Given the description of an element on the screen output the (x, y) to click on. 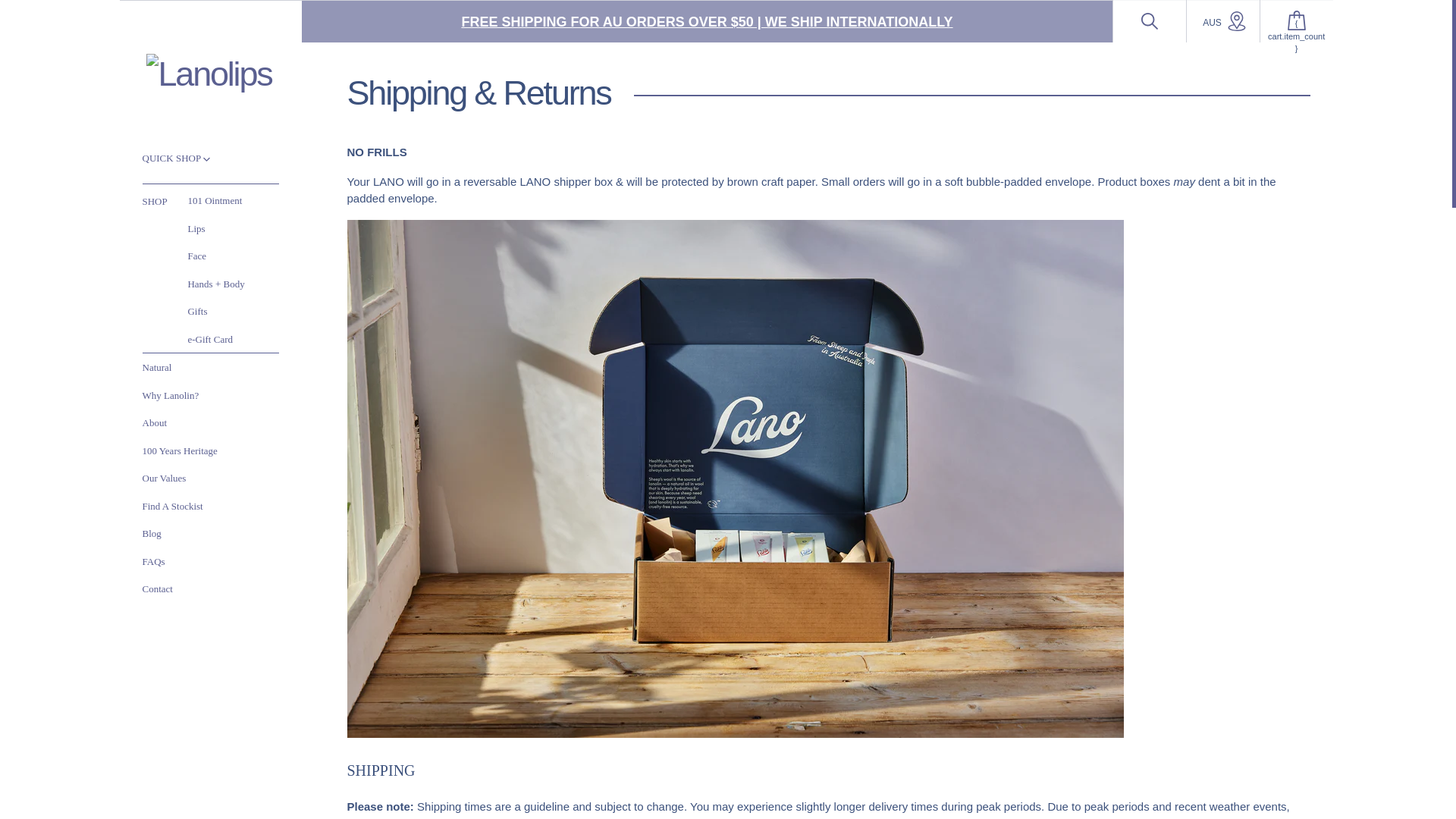
SHOP (164, 201)
Why Lanolin? (170, 394)
Contact (157, 588)
Face (196, 255)
e-Gift Card (209, 339)
Find A Stockist (172, 506)
100 Years Heritage (179, 450)
101 Ointment (214, 202)
QUICK SHOP (175, 158)
About (154, 422)
